Given the description of an element on the screen output the (x, y) to click on. 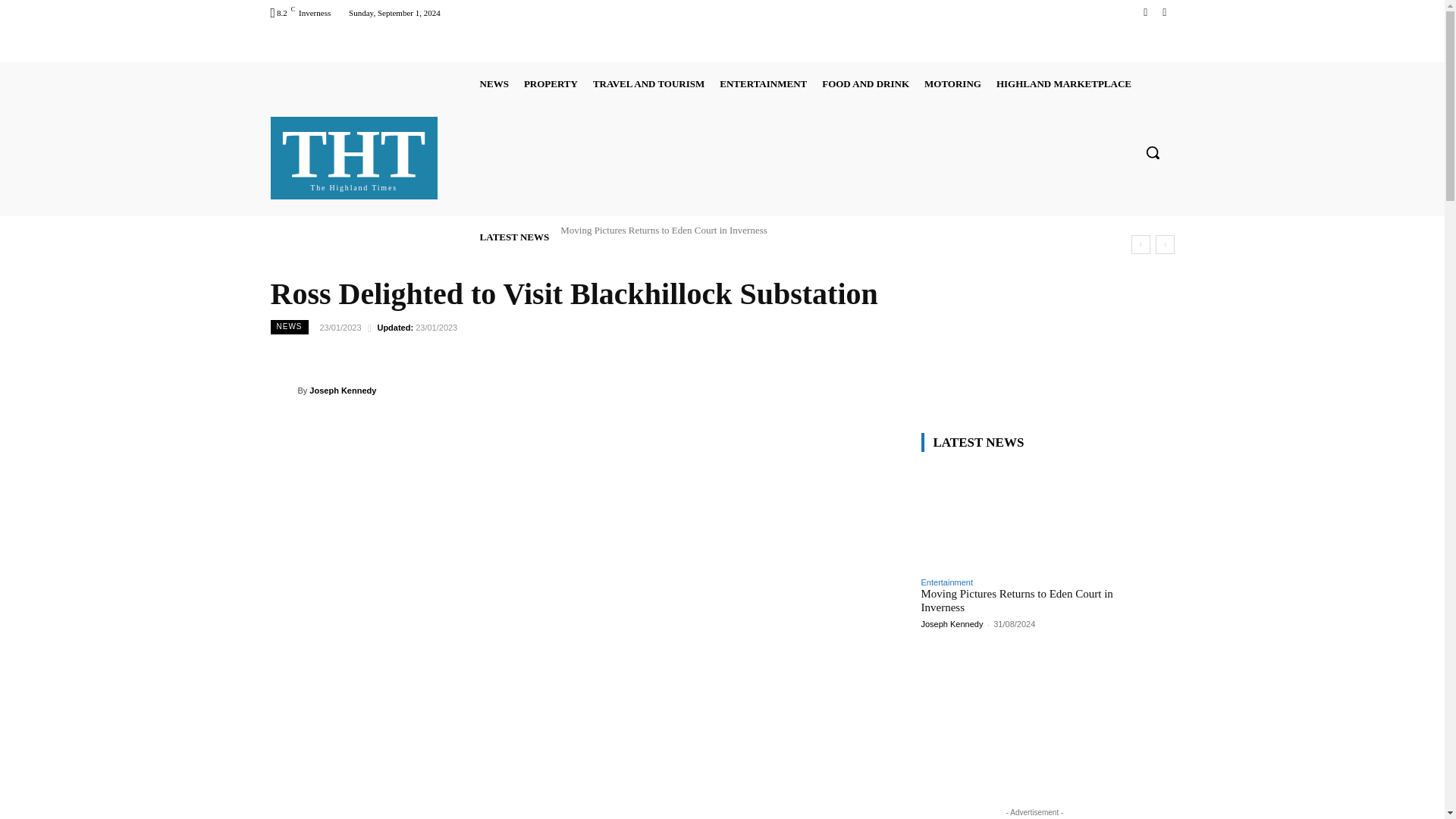
Moving Pictures Returns to Eden Court in Inverness (663, 229)
HIGHLAND MARKETPLACE (1063, 83)
FOOD AND DRINK (865, 83)
Twitter (1163, 12)
TRAVEL AND TOURISM (648, 83)
Facebook (354, 155)
ENTERTAINMENT (1144, 12)
NEWS (762, 83)
MOTORING (494, 83)
